Given the description of an element on the screen output the (x, y) to click on. 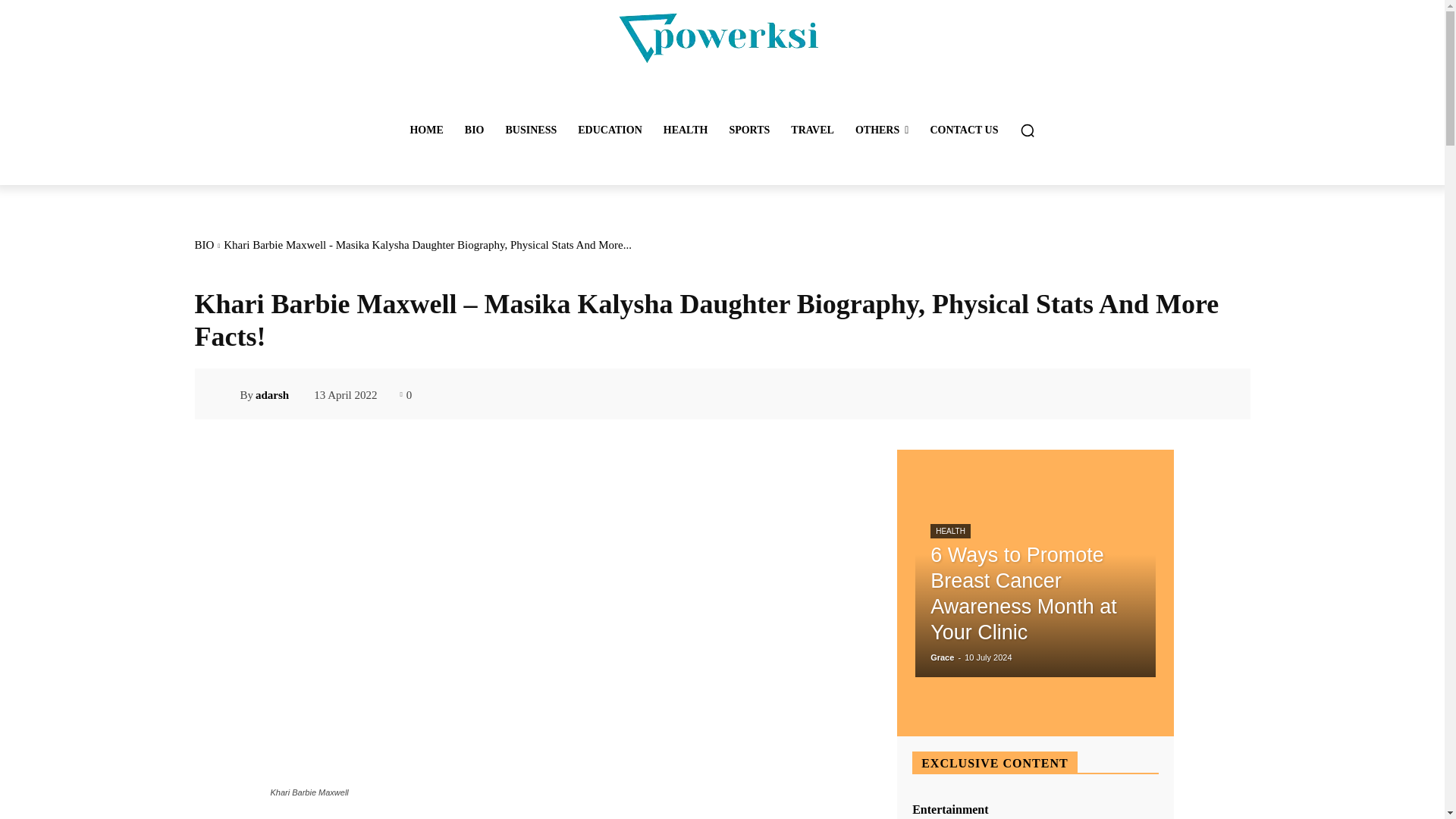
BIO (474, 130)
SPORTS (748, 130)
BIO (203, 244)
CONTACT US (963, 130)
adarsh (226, 395)
HOME (425, 130)
View all posts in BIO (203, 244)
BUSINESS (531, 130)
EDUCATION (609, 130)
OTHERS (881, 130)
